Given the description of an element on the screen output the (x, y) to click on. 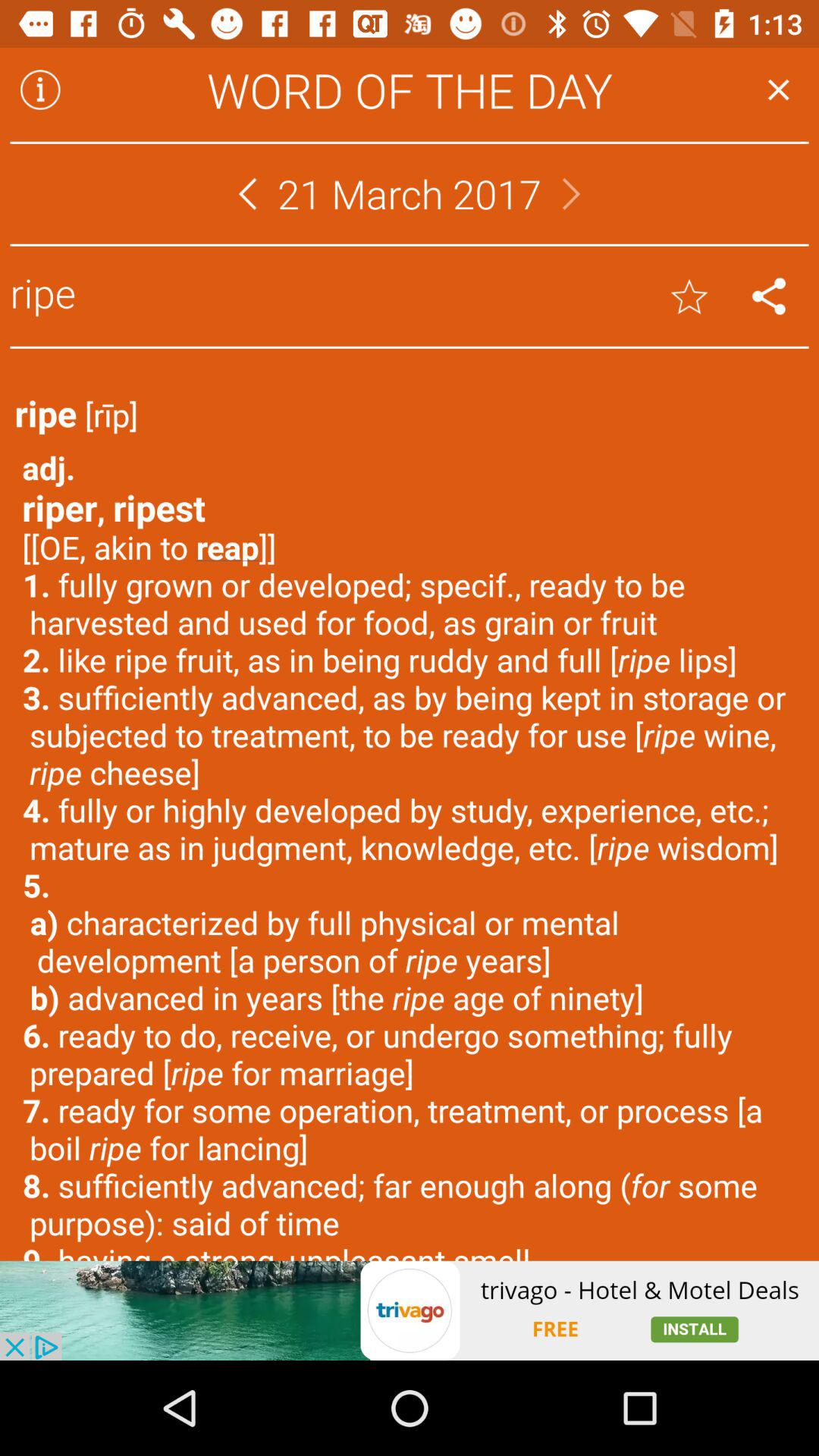
advertisement image (409, 1310)
